Given the description of an element on the screen output the (x, y) to click on. 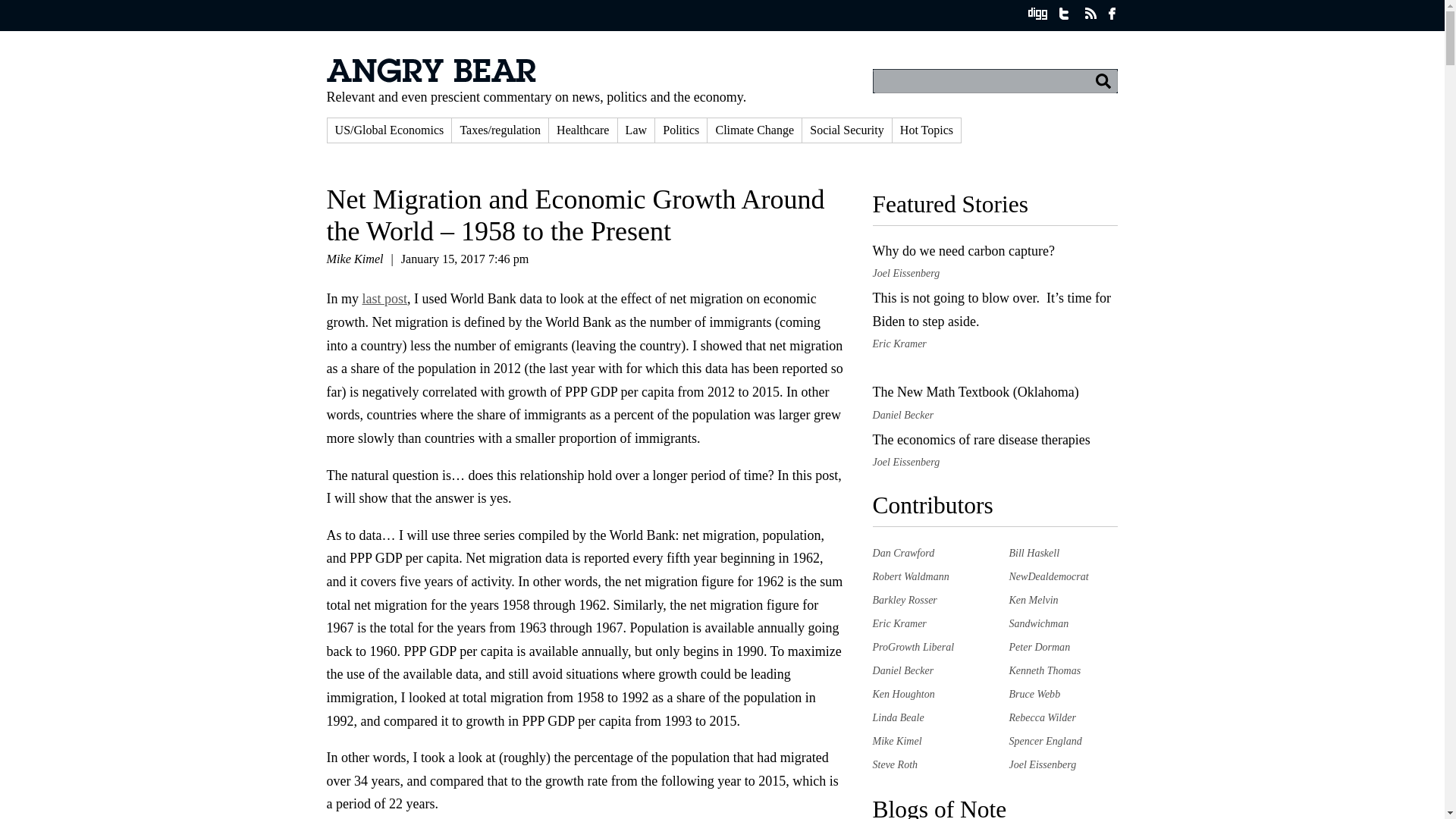
Healthcare (582, 129)
last post (384, 298)
Climate Change (754, 129)
Social Security (846, 129)
Hot Topics (926, 129)
Politics (680, 129)
Law (636, 129)
